Given the description of an element on the screen output the (x, y) to click on. 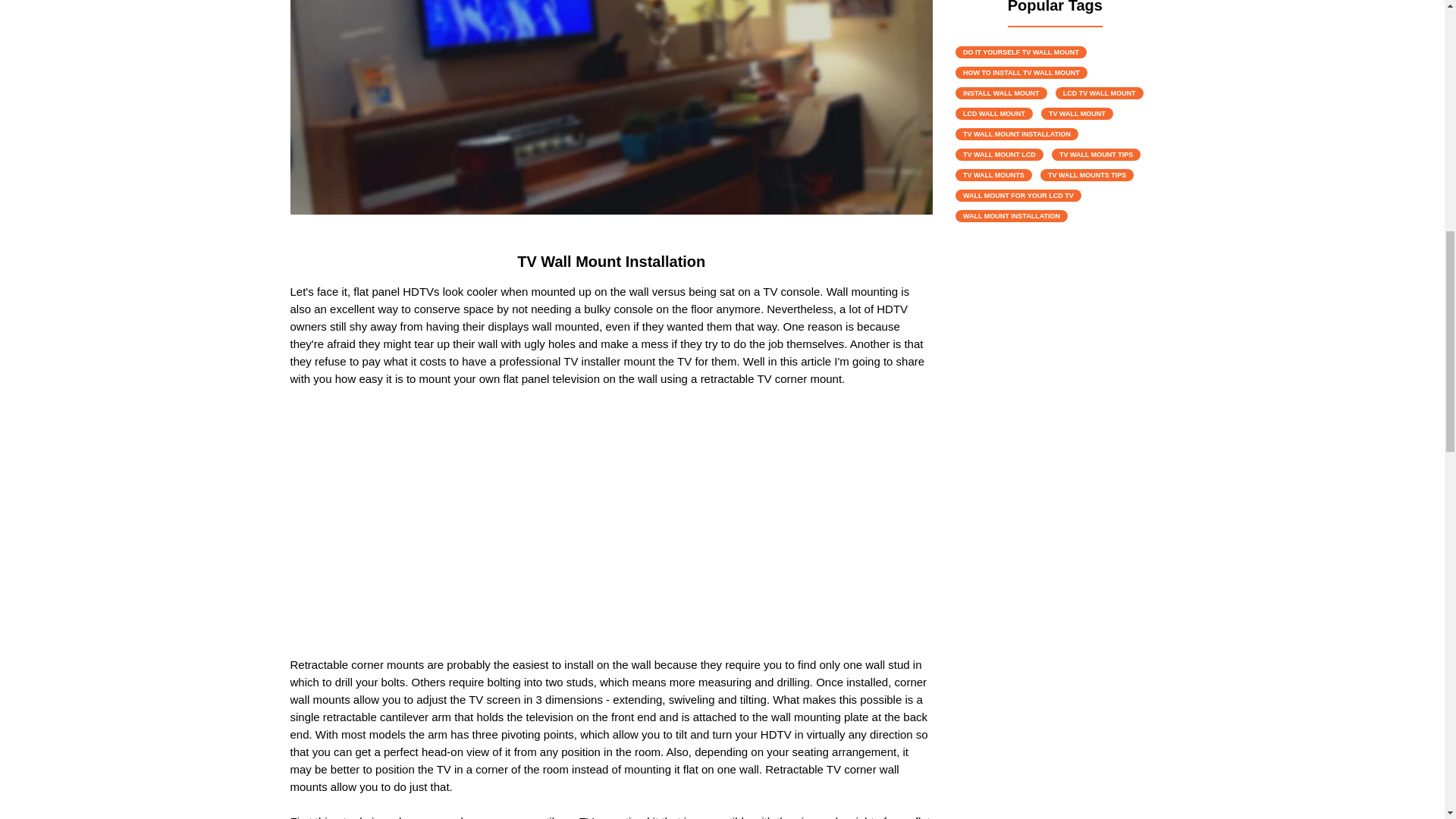
Narrow search to articles also having tag tv wall mount lcd (999, 154)
Narrow search to articles also having tag install wall mount (1000, 92)
Narrow search to articles also having tag Lcd tv wall mount (1098, 92)
Narrow search to articles also having tag tv wall mount (1077, 113)
Narrow search to articles also having tag tv wall mount tips (1095, 154)
Narrow search to articles also having tag lcd wall mount (993, 113)
